Given the description of an element on the screen output the (x, y) to click on. 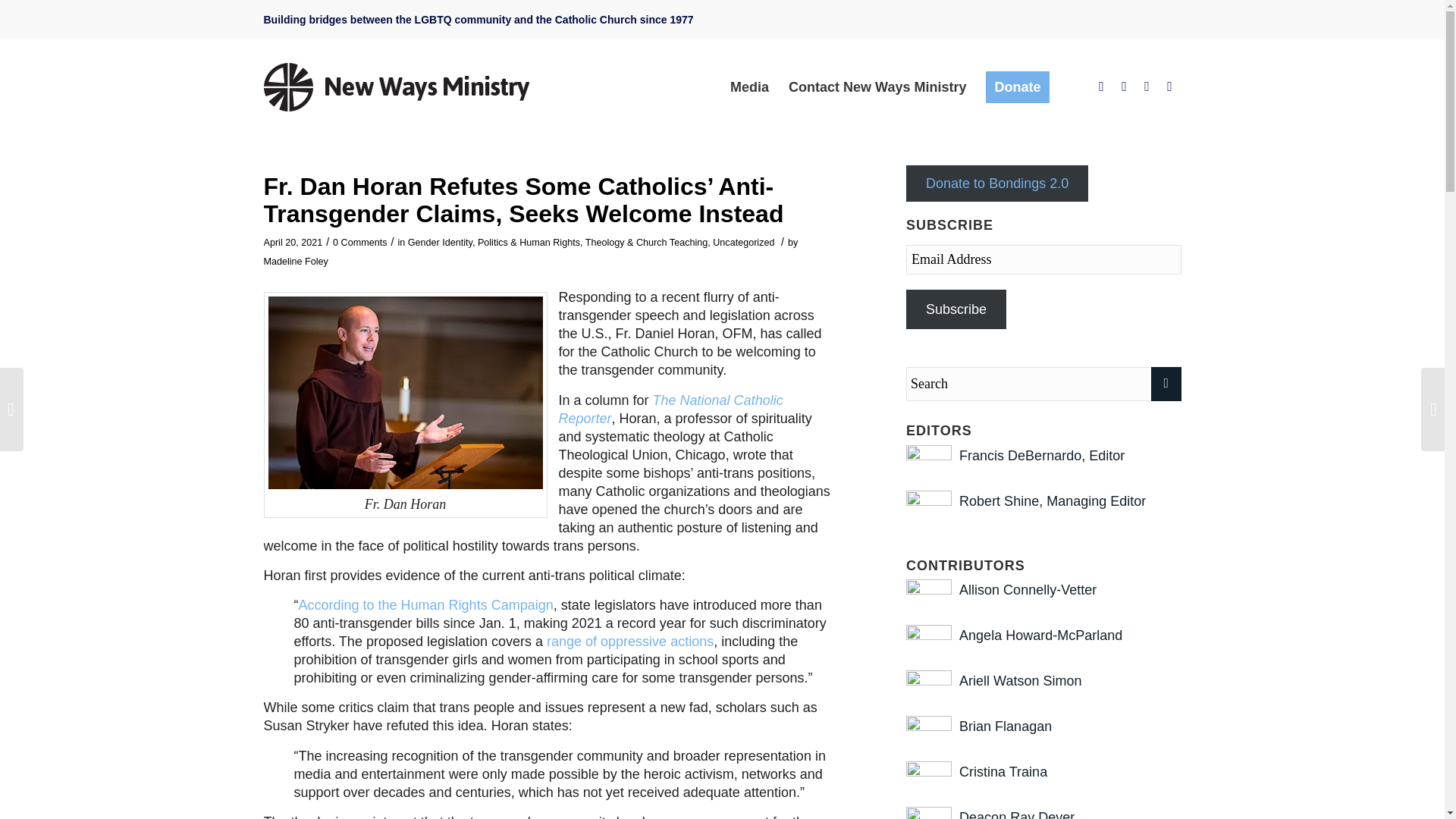
Posts by Madeline Foley (296, 261)
The National Catholic Reporter (670, 409)
Madeline Foley (296, 261)
Gender Identity (439, 242)
Posts by Francis DeBernardo, Editor (1041, 455)
Contact New Ways Ministry (876, 87)
Facebook (1101, 86)
Posts by Angela Howard-McParland (1040, 635)
Instagram (1146, 86)
According to the Human Rights Campaign (425, 604)
Mail (1169, 86)
Posts by Allison Connelly-Vetter (1027, 589)
range of oppressive actions (630, 641)
Twitter (1124, 86)
Posts by Robert Shine, Managing Editor (1052, 500)
